Given the description of an element on the screen output the (x, y) to click on. 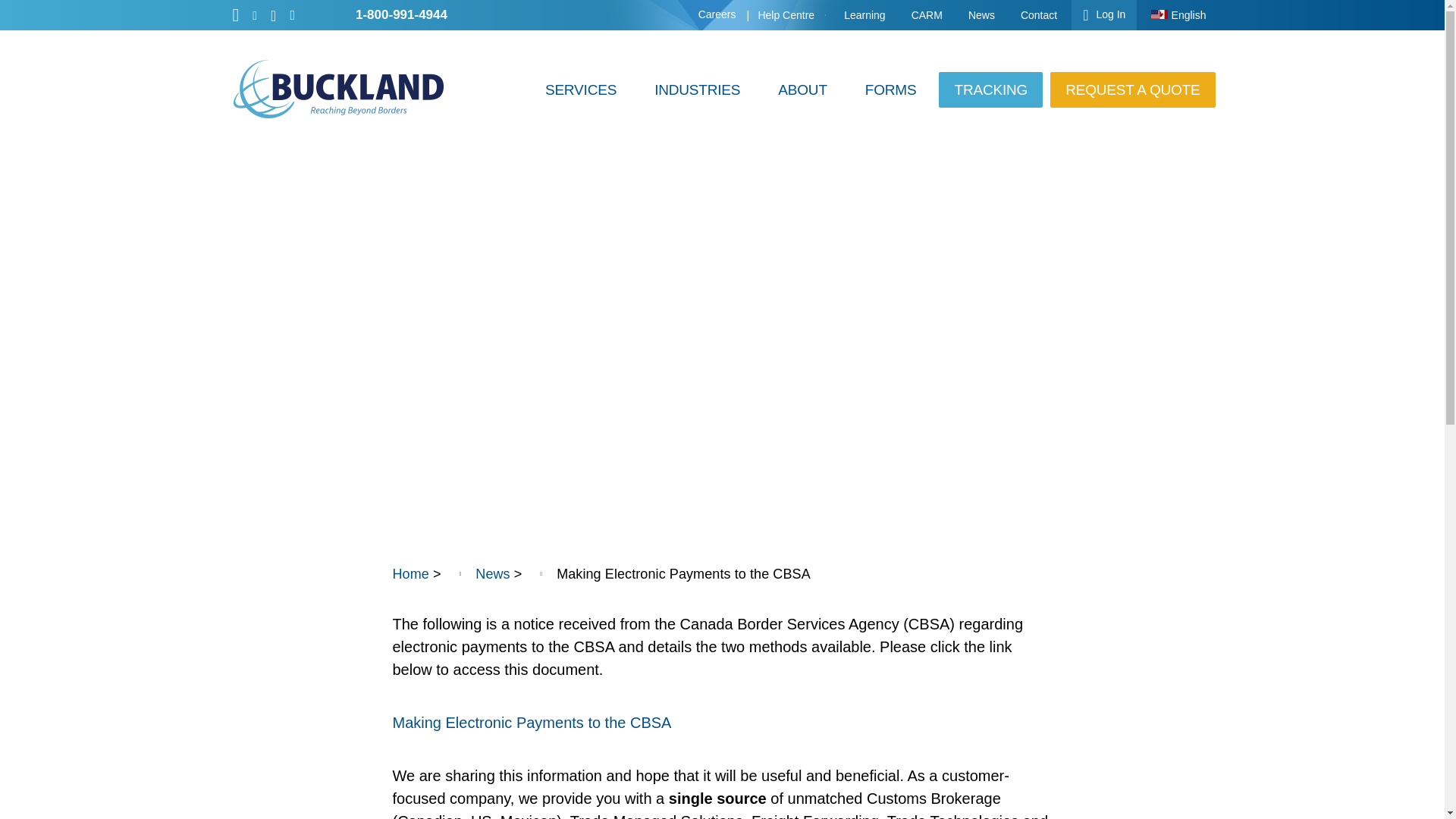
INDUSTRIES (697, 89)
Careers (717, 14)
Log In (1104, 15)
English (1178, 15)
Learning (864, 15)
FORMS (890, 89)
English (1178, 15)
Help Centre (787, 15)
1-800-991-4944 (401, 14)
News (981, 15)
